Given the description of an element on the screen output the (x, y) to click on. 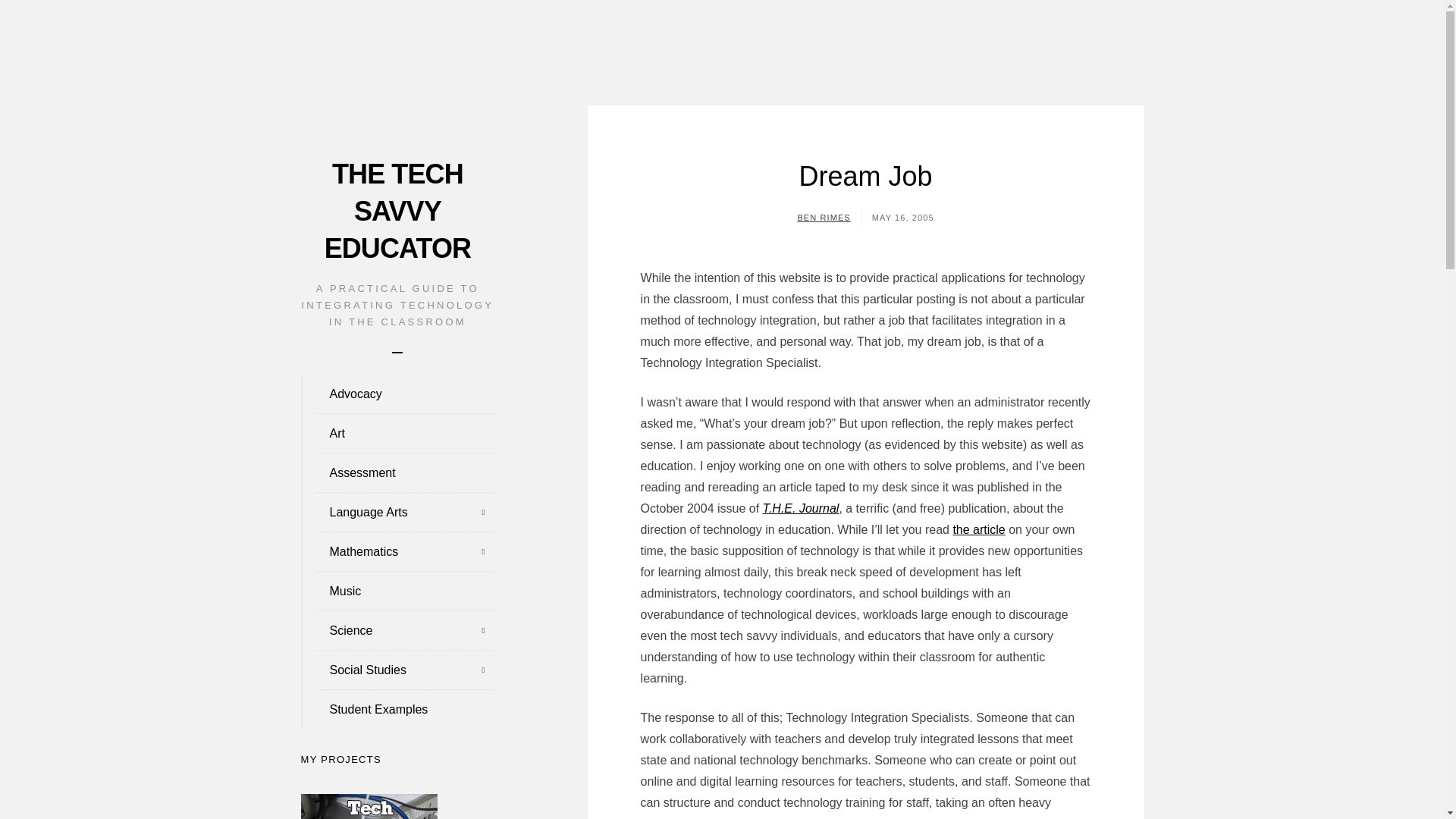
THE TECH SAVVY EDUCATOR (397, 210)
Art (397, 433)
Advocacy (397, 394)
Assessment (397, 473)
Language Arts (397, 512)
Science (397, 630)
BEN RIMES (823, 216)
Mathematics (397, 551)
Social Studies (397, 670)
Student Examples (397, 709)
Music (397, 590)
